Given the description of an element on the screen output the (x, y) to click on. 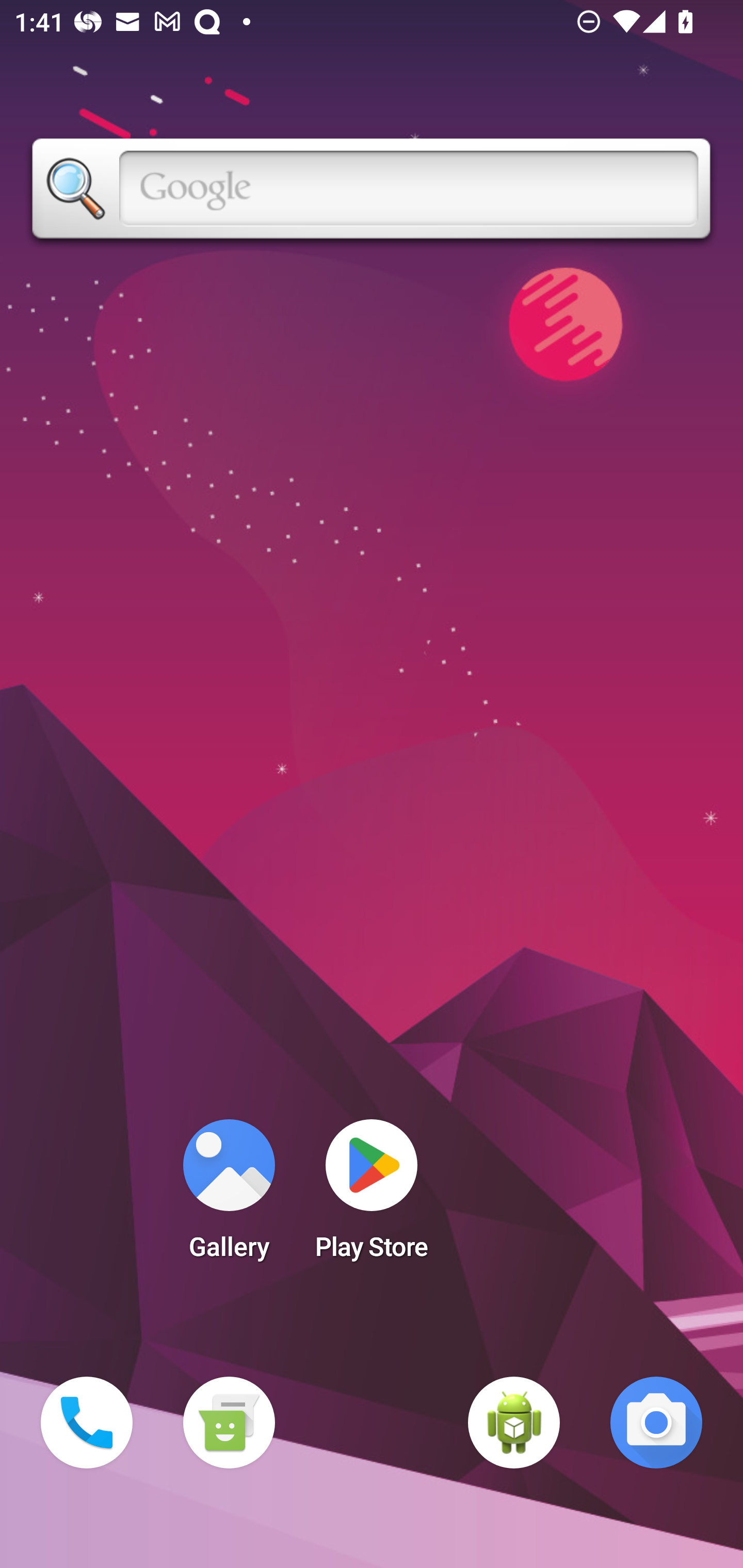
Gallery (228, 1195)
Play Store (371, 1195)
Phone (86, 1422)
Messaging (228, 1422)
WebView Browser Tester (513, 1422)
Camera (656, 1422)
